Given the description of an element on the screen output the (x, y) to click on. 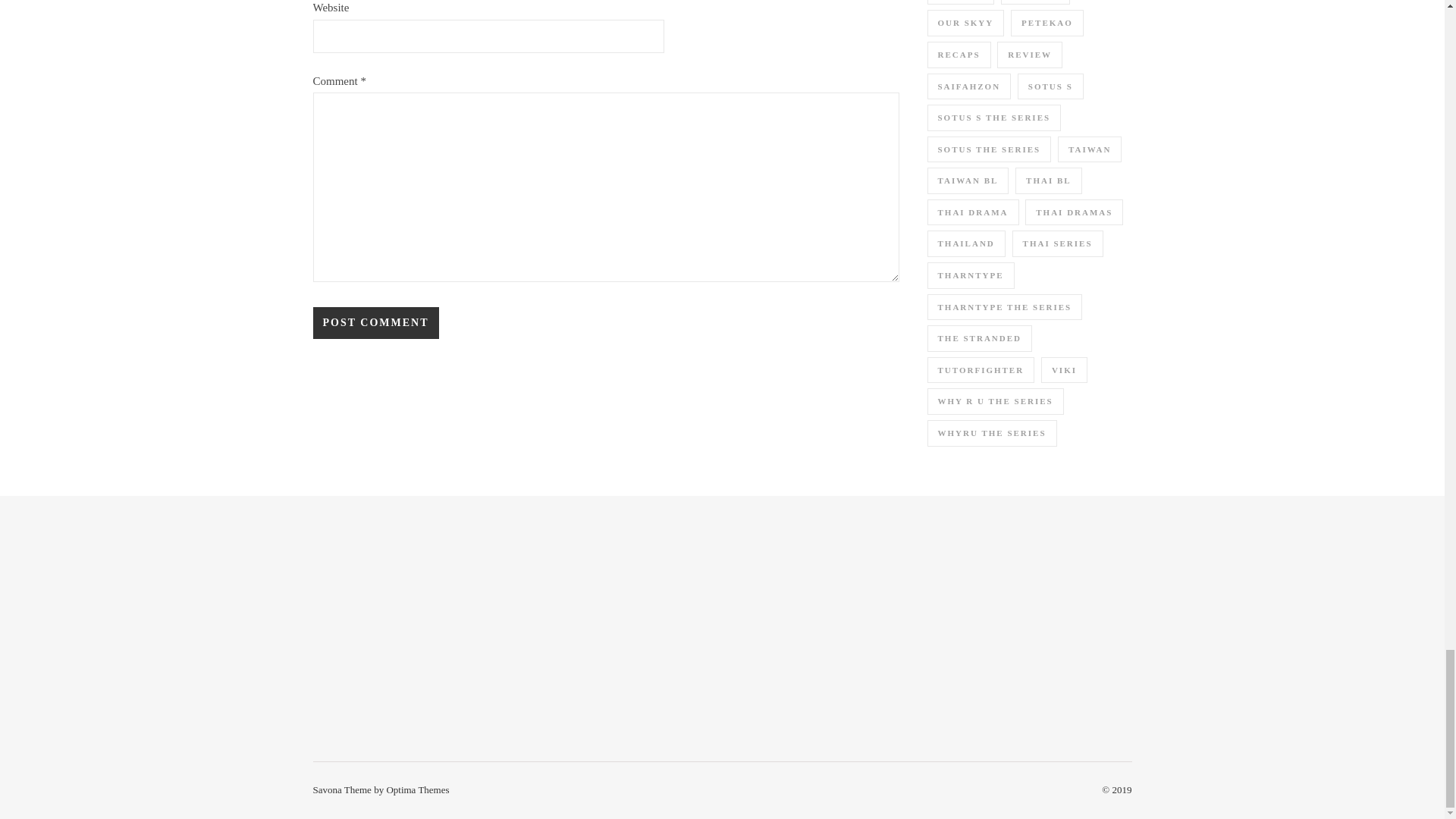
Post Comment (375, 323)
